Given the description of an element on the screen output the (x, y) to click on. 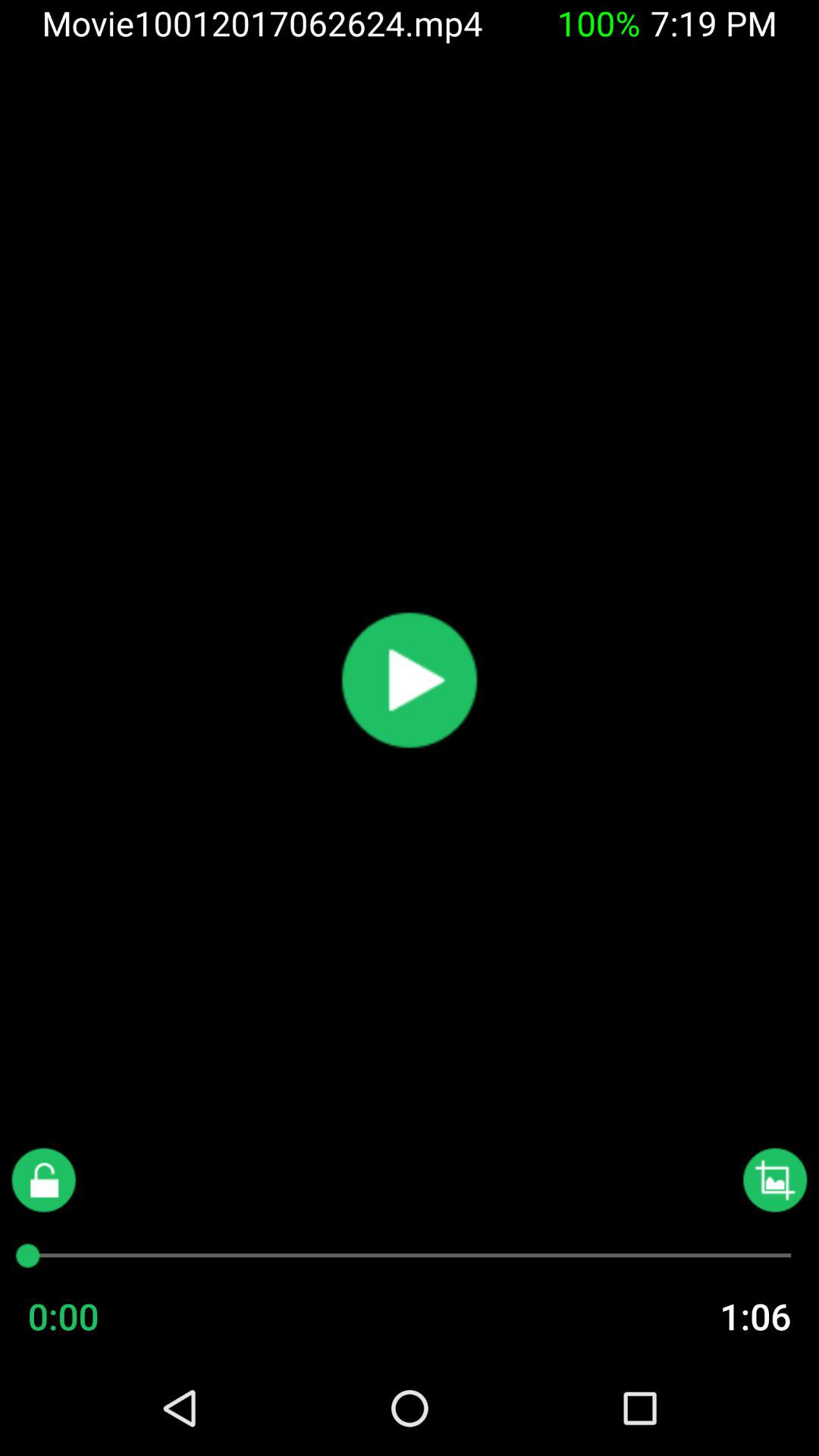
plays a video (409, 679)
